Given the description of an element on the screen output the (x, y) to click on. 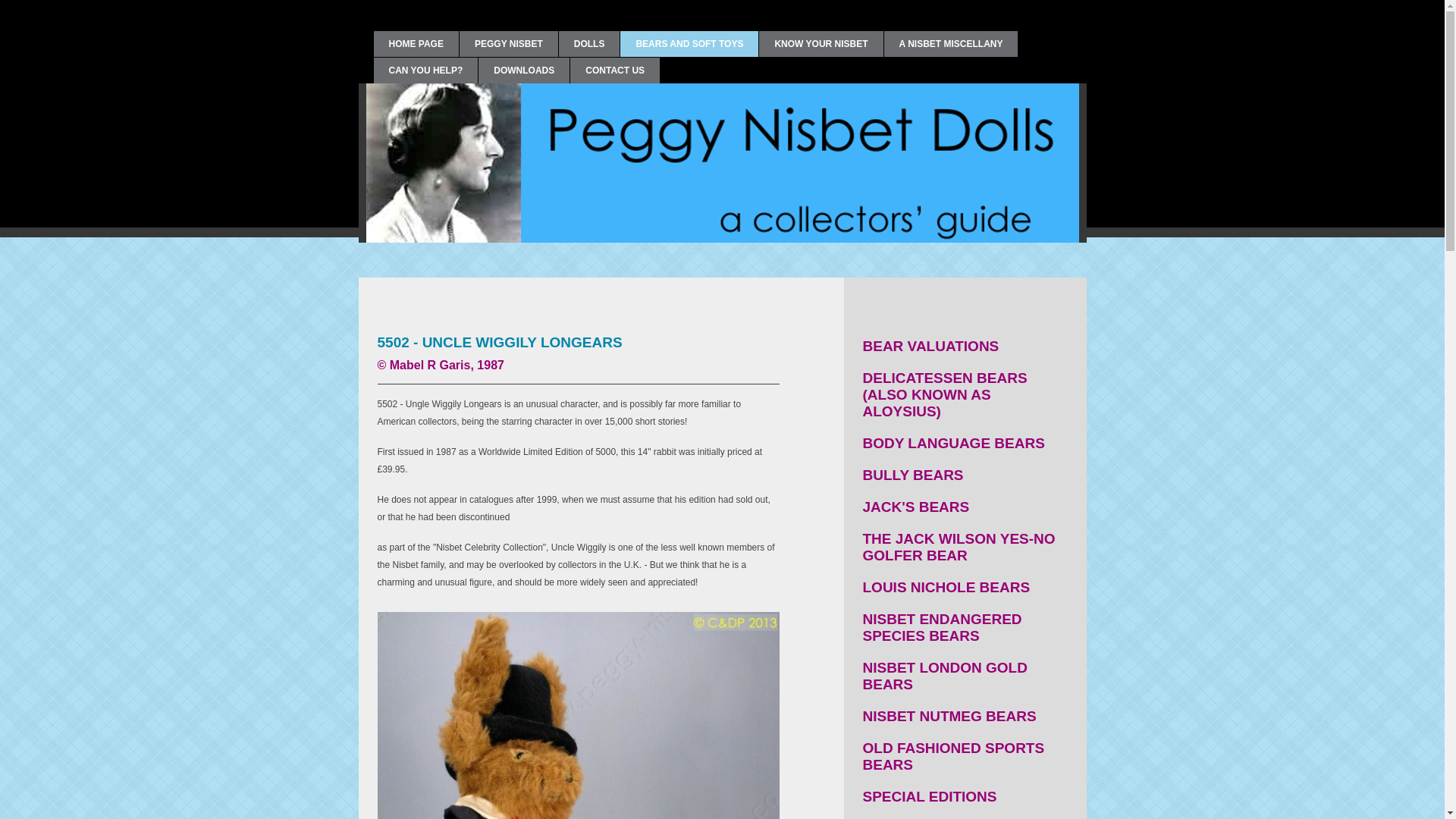
OLD FASHIONED SPORTS BEARS (965, 756)
JACK'S BEARS (965, 507)
PEGGY NISBET (508, 43)
CAN YOU HELP? (424, 70)
BEARS AND SOFT TOYS (689, 43)
LOUIS NICHOLE BEARS (965, 587)
CONTACT US (614, 70)
BULLY BEARS (965, 475)
DOLLS (589, 43)
THE BRINKWORTH BEARS (965, 816)
NISBET ENDANGERED SPECIES BEARS (965, 627)
NISBET NUTMEG BEARS (965, 716)
NISBET LONDON GOLD BEARS (965, 676)
KNOW YOUR NISBET (820, 43)
SPECIAL EDITIONS (965, 797)
